Given the description of an element on the screen output the (x, y) to click on. 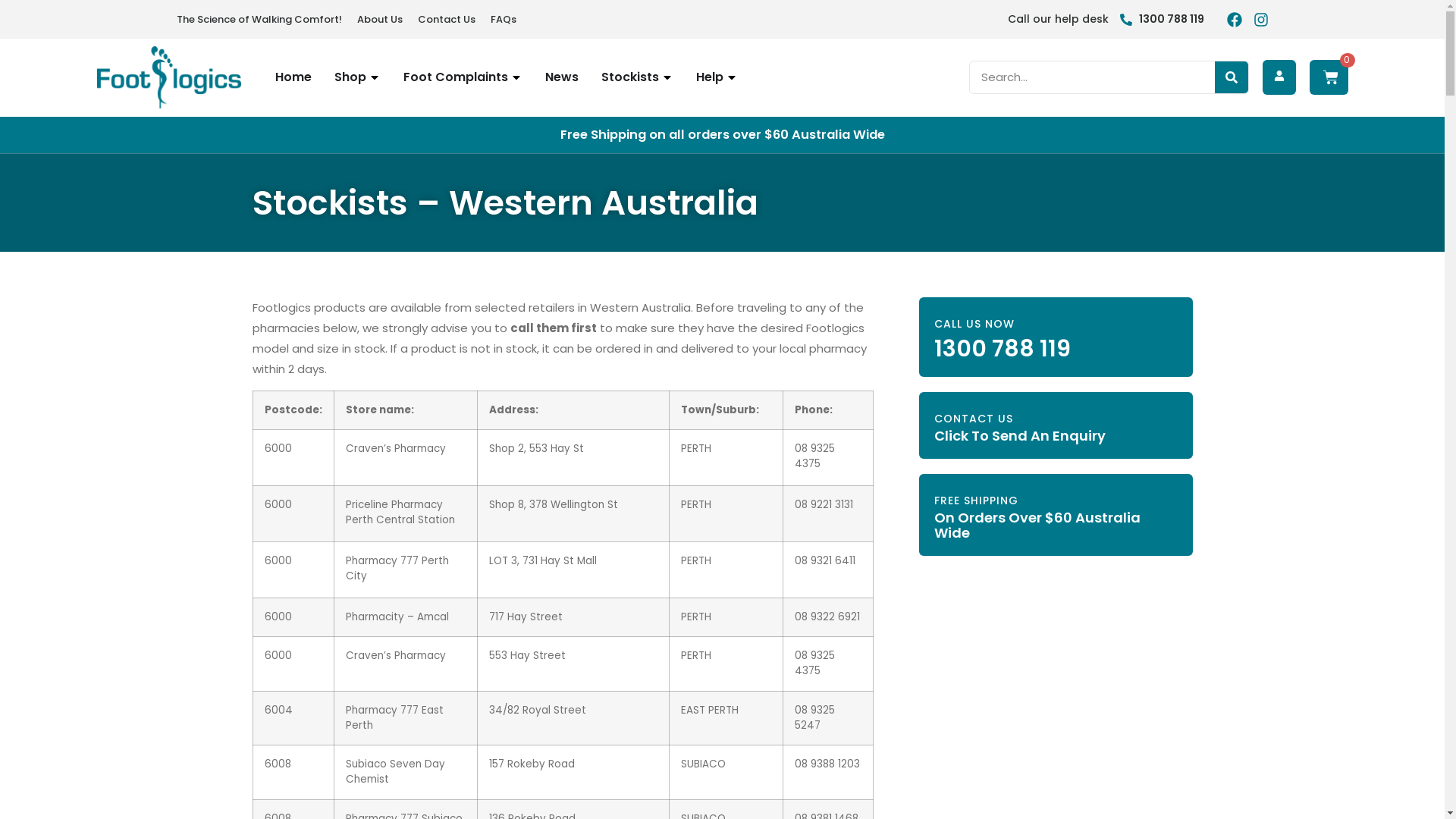
Contact Us Element type: text (445, 19)
FAQs Element type: text (502, 19)
FL-logo-NEW Element type: hover (169, 77)
Click To Send An Enquiry Element type: text (1019, 435)
1300 788 119 Element type: text (1161, 18)
About Us Element type: text (378, 19)
CONTACT US Element type: text (973, 418)
Shop Element type: text (349, 76)
CALL US NOW Element type: text (974, 323)
Home Element type: text (292, 76)
1300 788 119 Element type: text (1002, 348)
News Element type: text (560, 76)
Help Element type: text (709, 76)
$0.00
0 Element type: text (1327, 76)
